Given the description of an element on the screen output the (x, y) to click on. 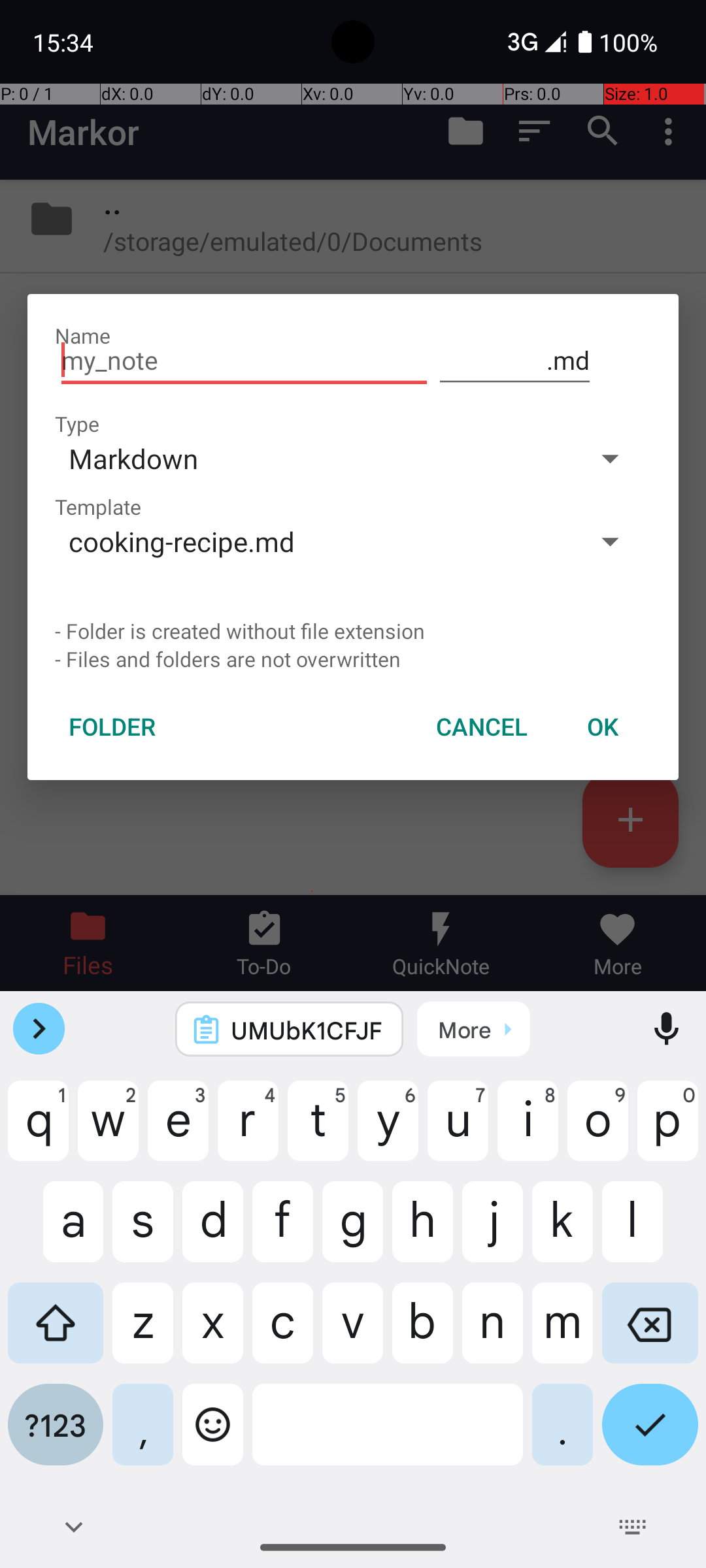
my_note Element type: android.widget.EditText (243, 360)
.md Element type: android.widget.EditText (514, 360)
cooking-recipe.md Element type: android.widget.TextView (311, 540)
UMUbK1CFJF Element type: android.widget.TextView (306, 1029)
